Given the description of an element on the screen output the (x, y) to click on. 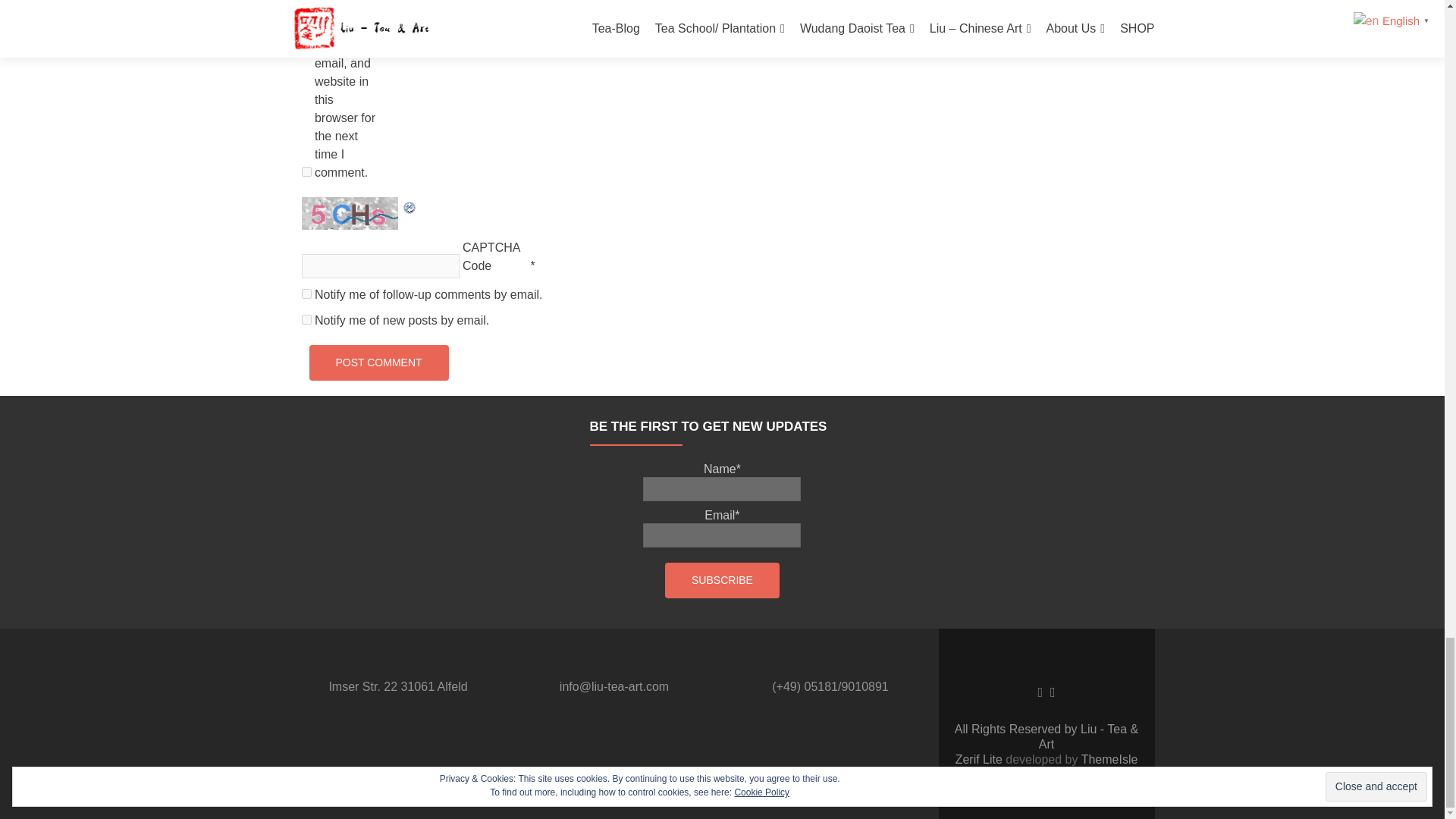
subscribe (306, 319)
subscribe (306, 293)
yes (306, 171)
Refresh (410, 205)
CAPTCHA (351, 213)
Post Comment (378, 362)
Subscribe (721, 580)
